Given the description of an element on the screen output the (x, y) to click on. 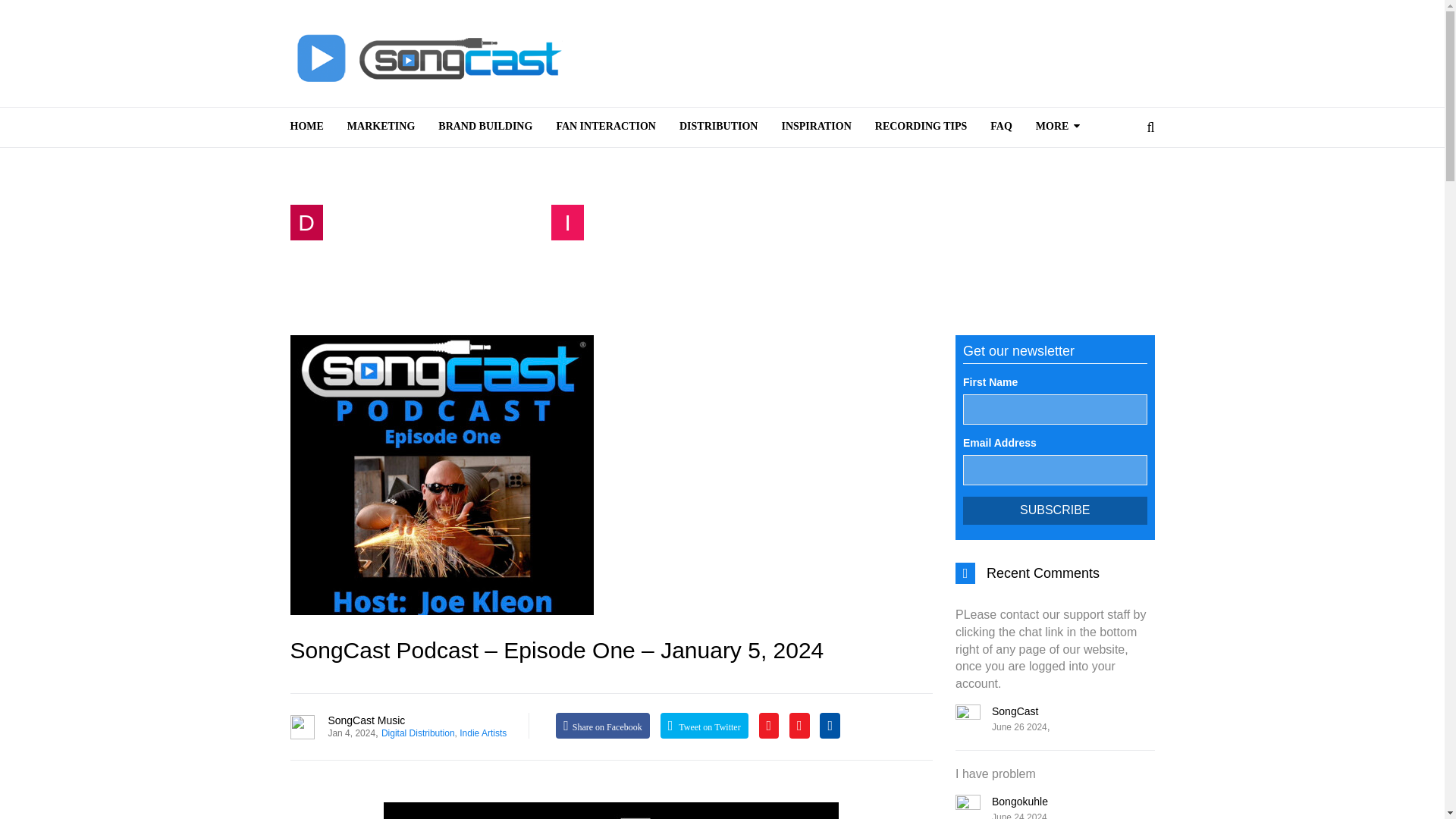
FAQ (1001, 127)
RECORDING TIPS (921, 127)
DISTRIBUTION (719, 127)
Logo (425, 57)
MORE (1059, 127)
BRAND BUILDING (485, 127)
HOME (311, 127)
FAN INTERACTION (606, 127)
MARKETING (381, 127)
INSPIRATION (816, 127)
Subscribe (1054, 510)
